Given the description of an element on the screen output the (x, y) to click on. 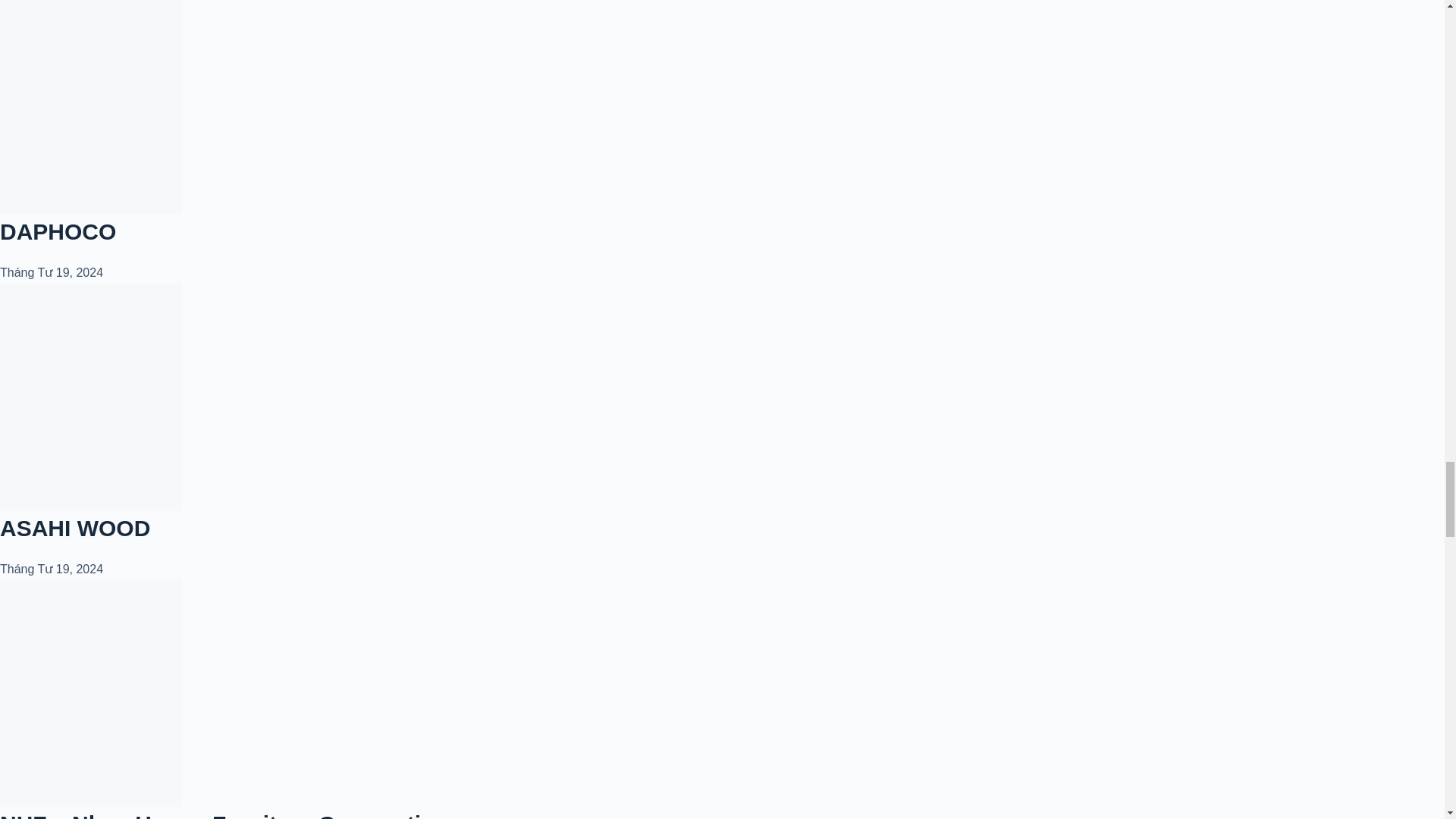
ASAHI WOOD (74, 527)
DAPHOCO (58, 231)
